Given the description of an element on the screen output the (x, y) to click on. 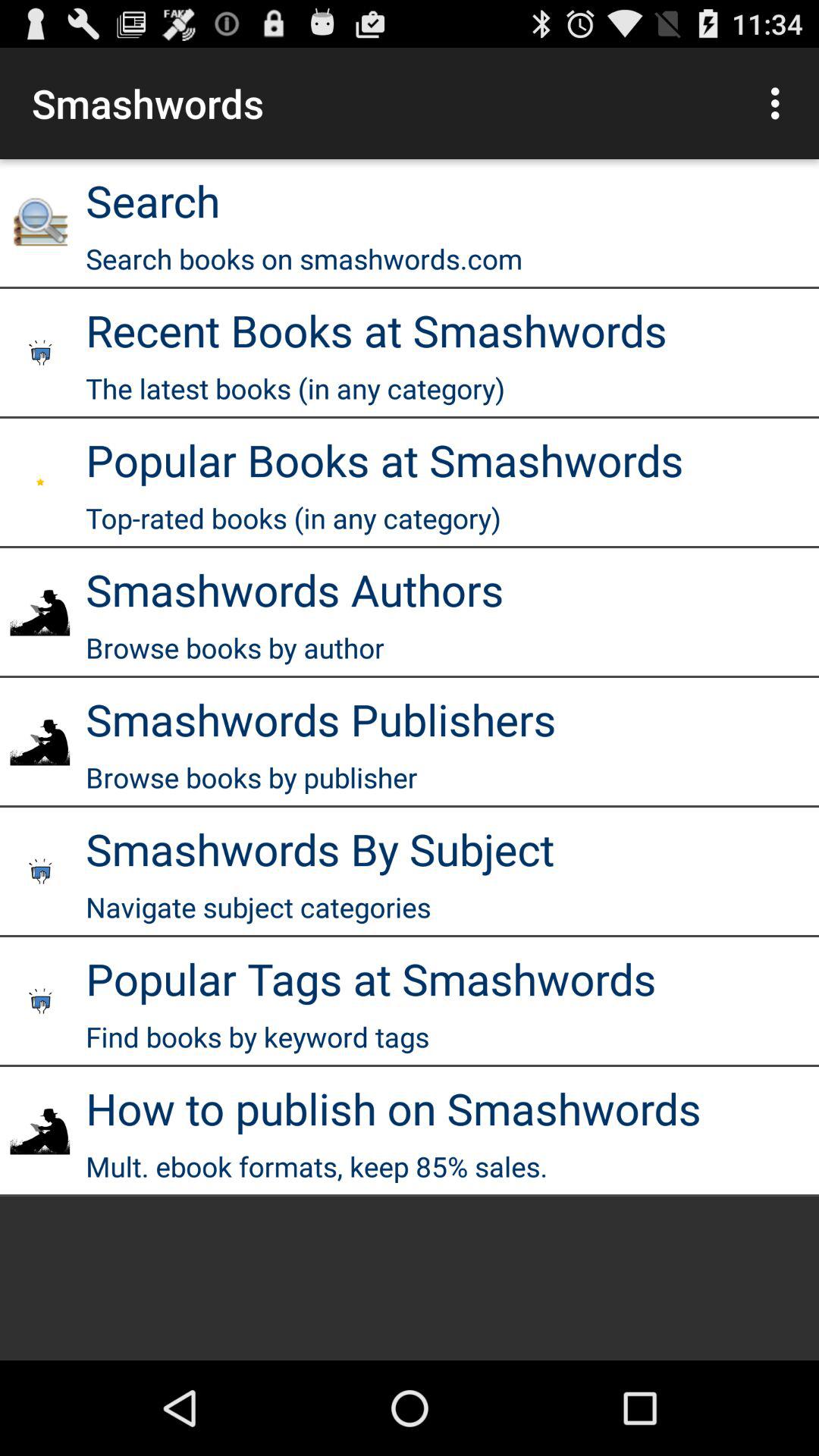
launch app below recent books at item (295, 388)
